Given the description of an element on the screen output the (x, y) to click on. 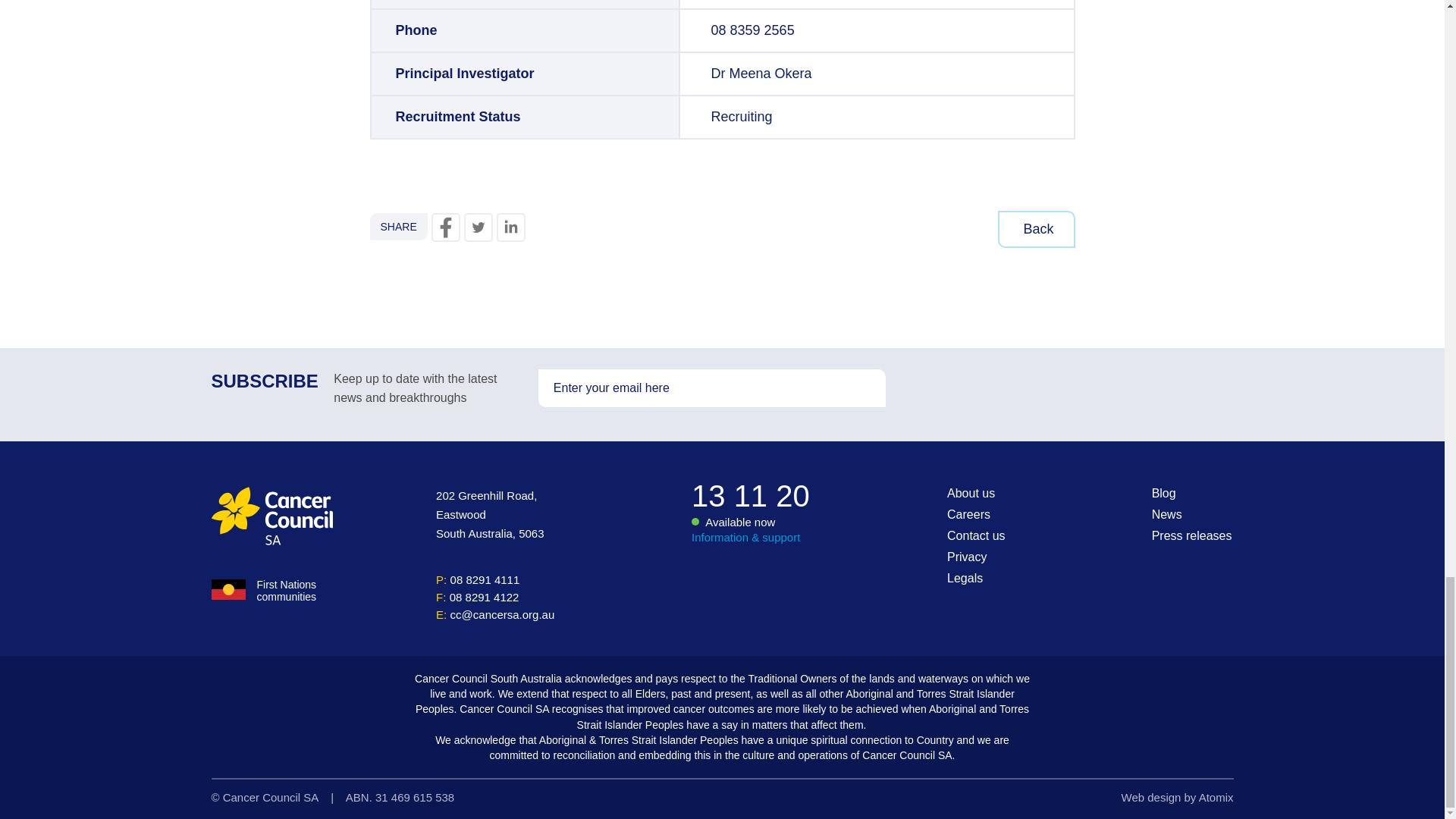
Share on Twitter (478, 226)
web design by atomix (1177, 797)
Share on LinkedIn (510, 226)
Share on Facebook (445, 226)
